Given the description of an element on the screen output the (x, y) to click on. 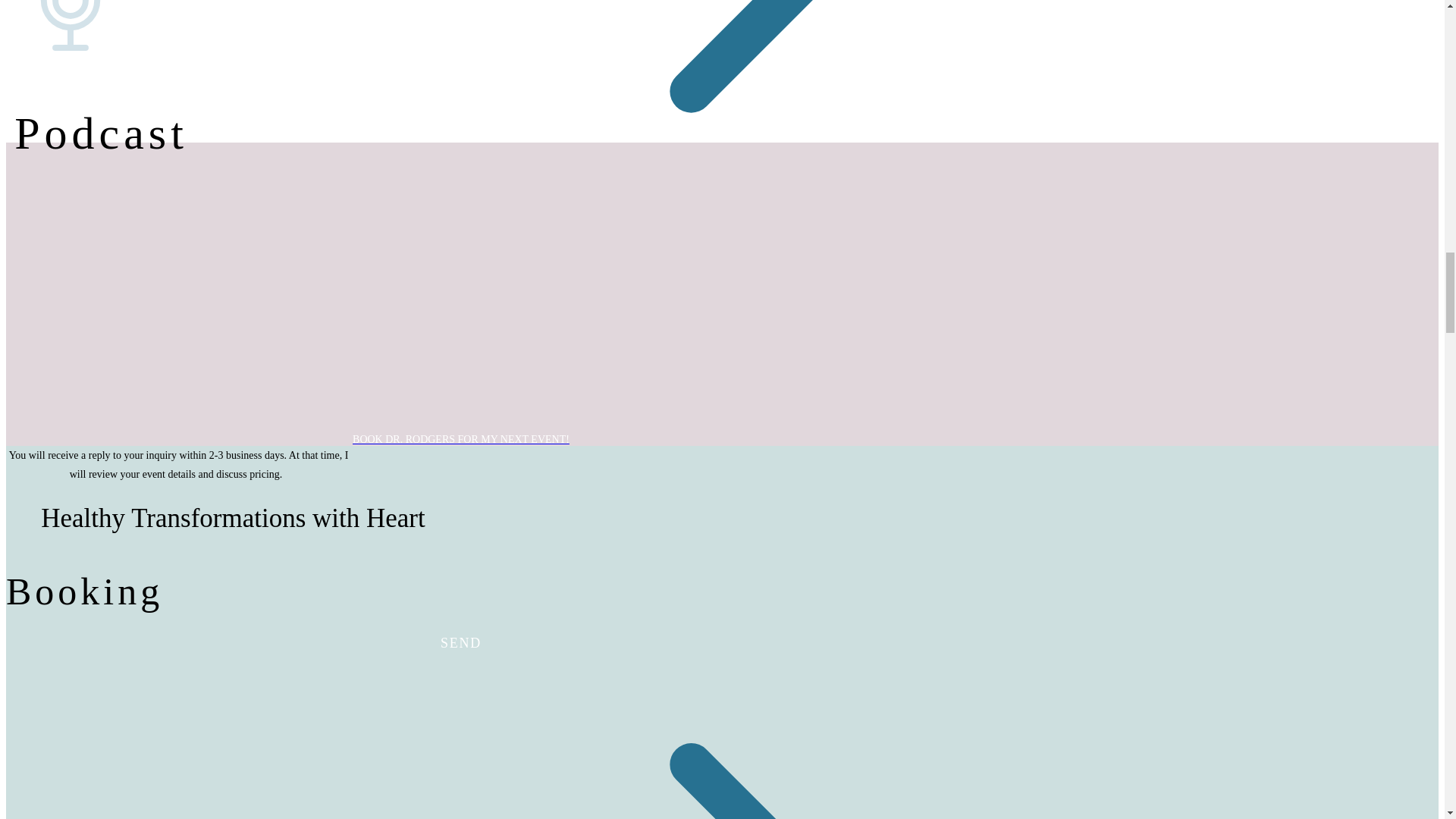
BOOK DR. RODGERS FOR MY NEXT EVENT! (460, 438)
SEND (460, 642)
